Given the description of an element on the screen output the (x, y) to click on. 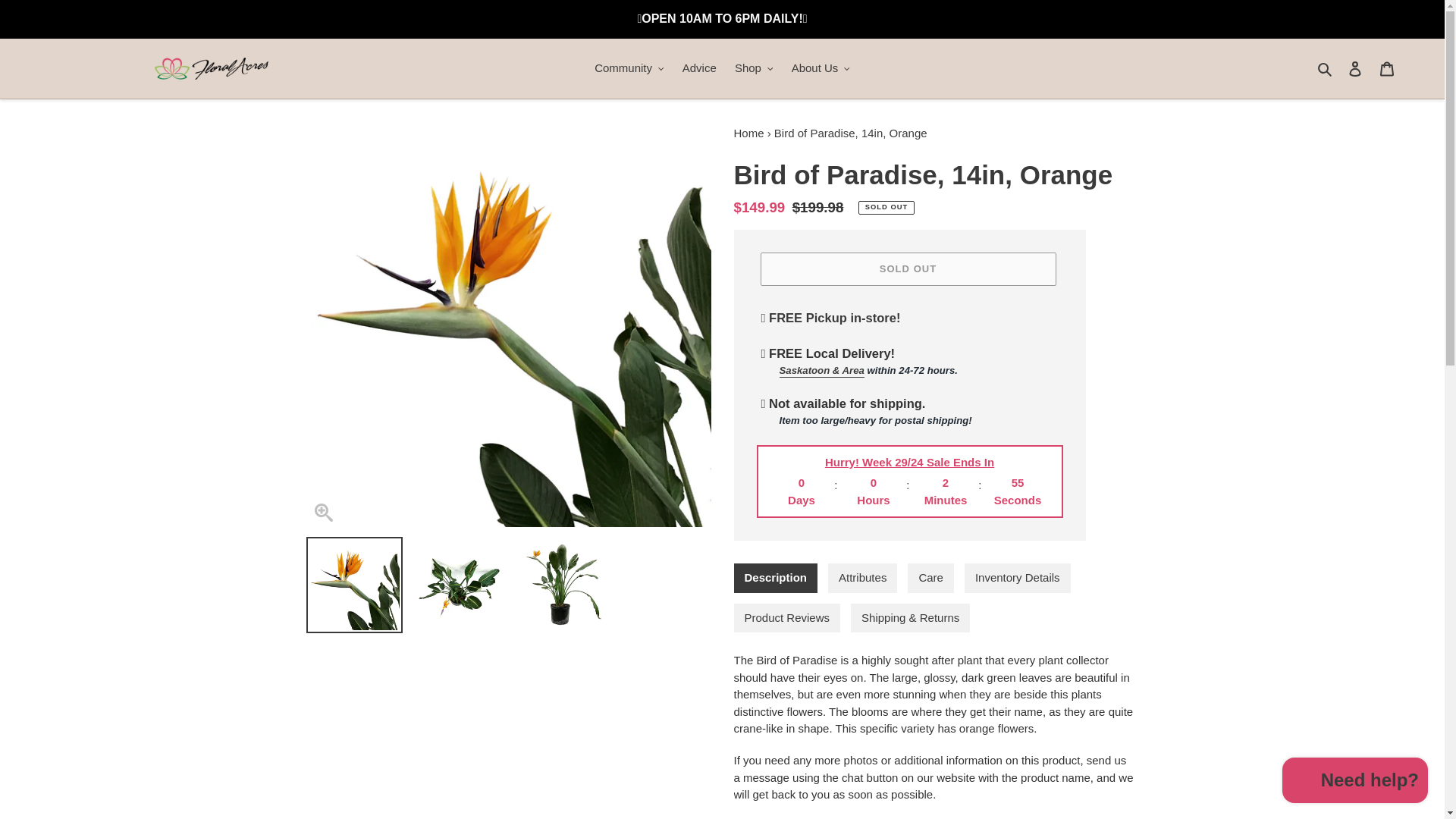
Shopify online store chat (1355, 781)
Community (628, 68)
Home (748, 132)
Shop (753, 68)
Advice (699, 68)
